Given the description of an element on the screen output the (x, y) to click on. 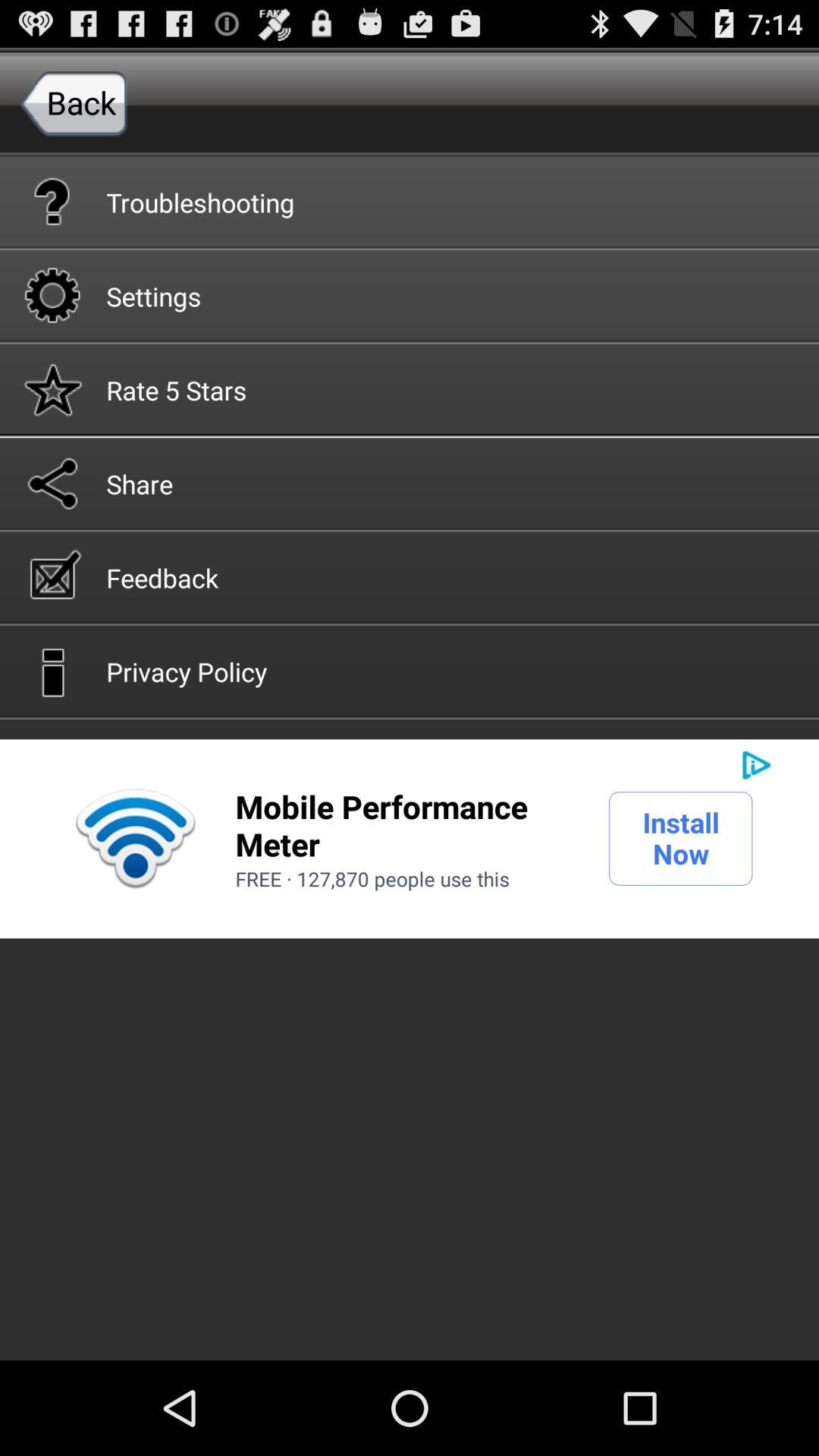
choose the item above the troubleshooting button (73, 102)
